Given the description of an element on the screen output the (x, y) to click on. 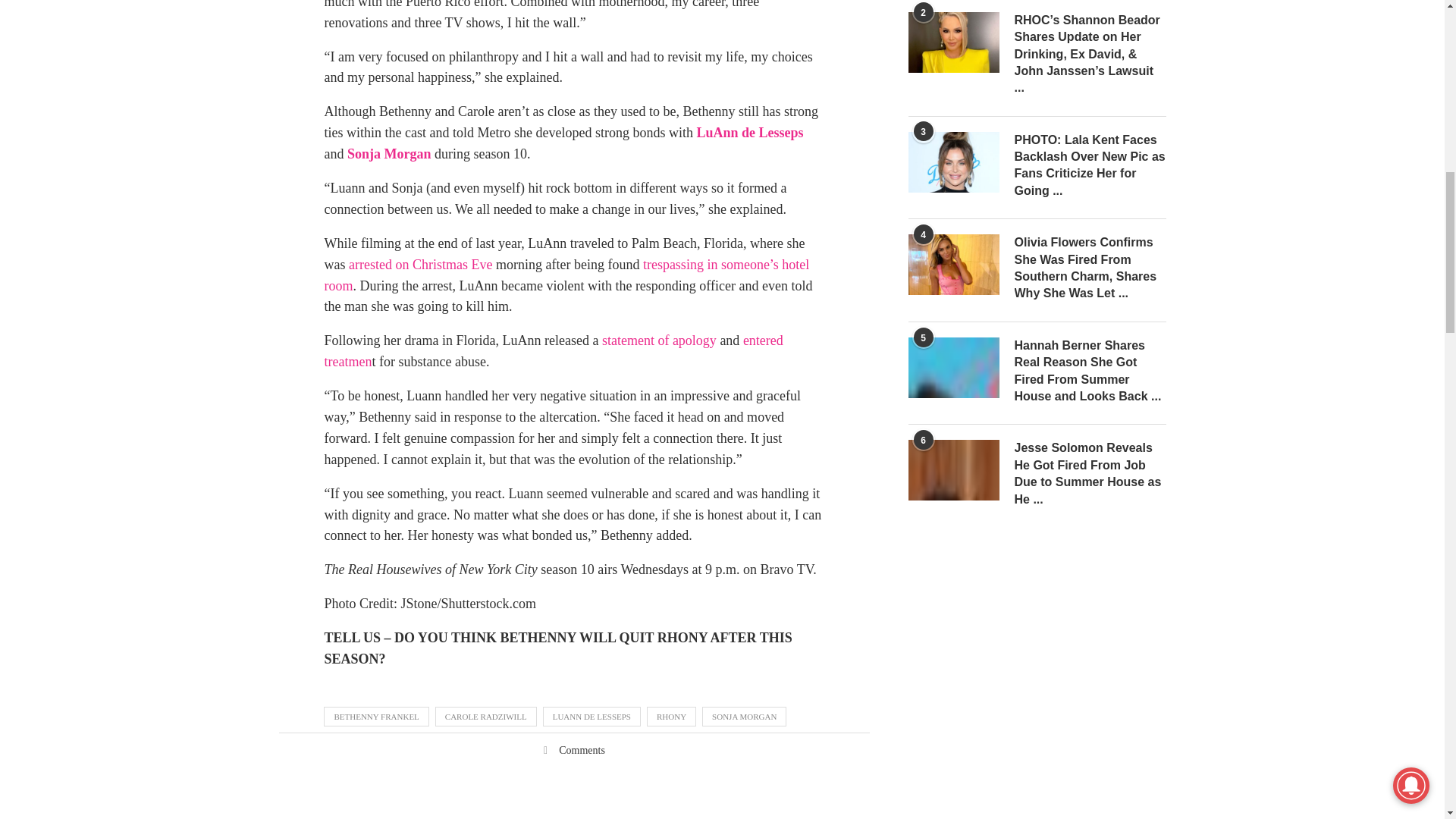
statement of apology (659, 340)
Sonja Morgan (388, 153)
LuAnn de Lesseps (749, 132)
arrested on Christmas Eve (420, 264)
